Given the description of an element on the screen output the (x, y) to click on. 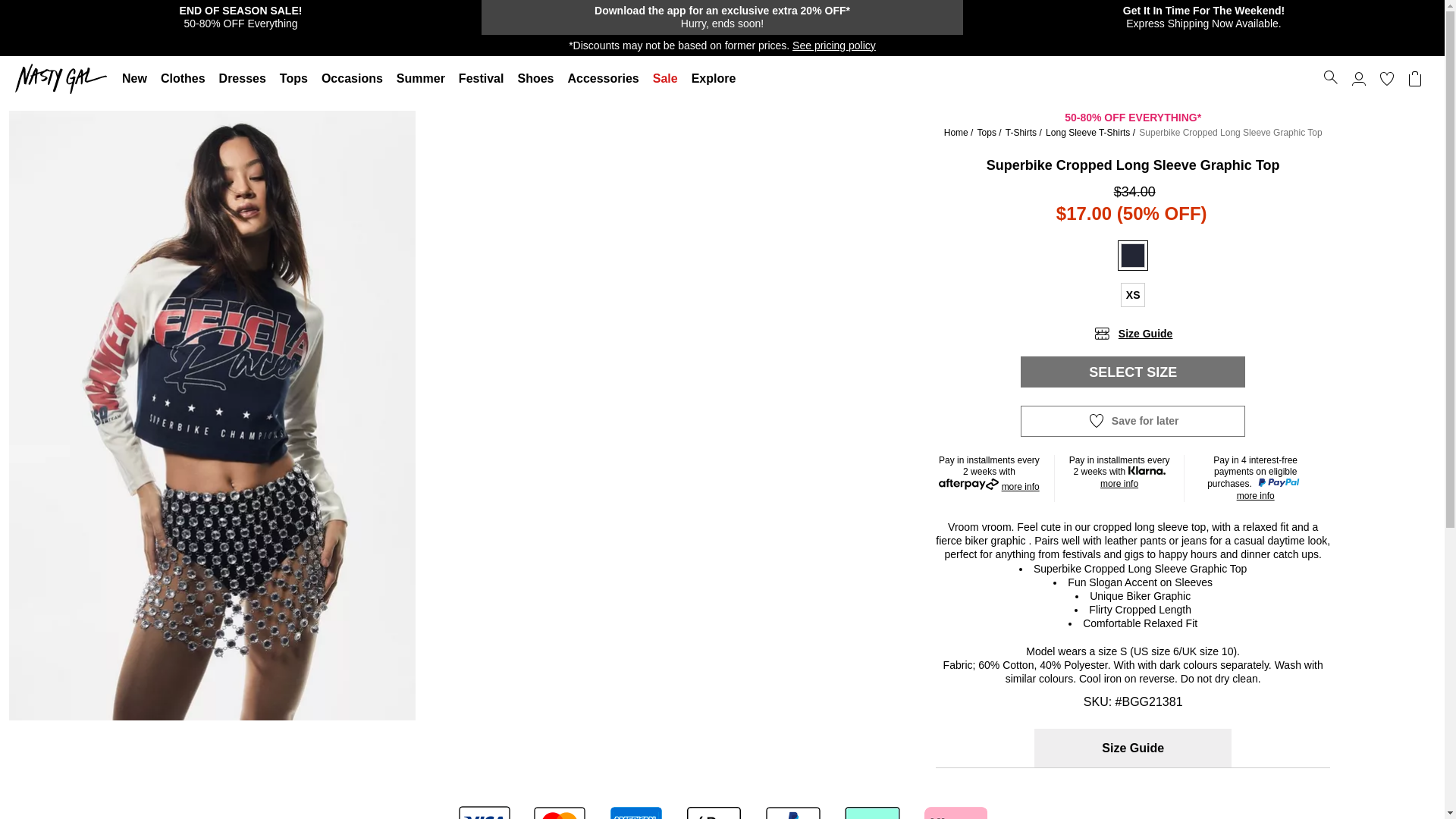
Nasty Gal (64, 78)
Wish List (1386, 78)
See pricing policy (834, 45)
Search (1330, 76)
Clothes (183, 78)
